Given the description of an element on the screen output the (x, y) to click on. 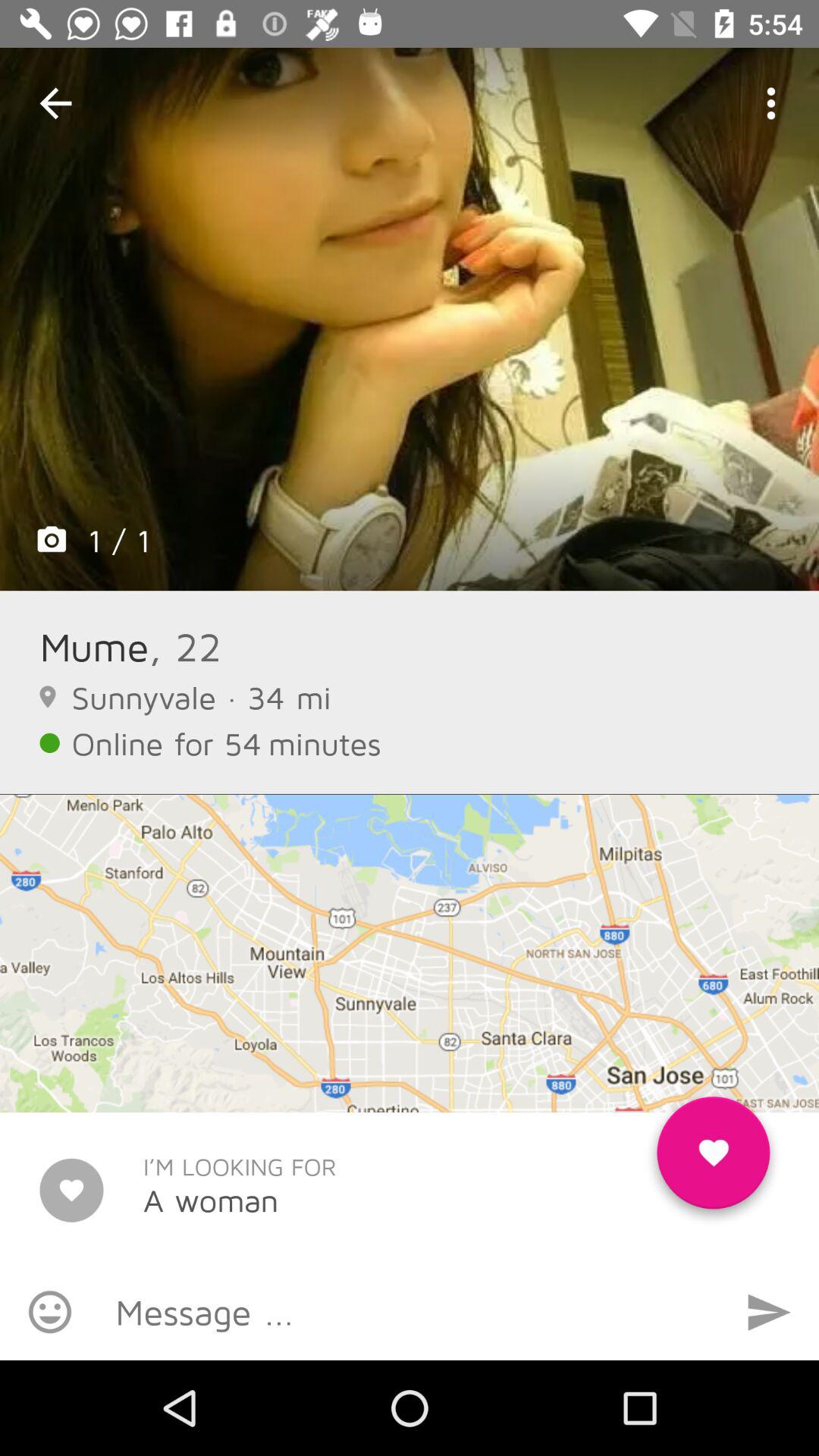
tap the item to the right of the i m looking (713, 1158)
